Given the description of an element on the screen output the (x, y) to click on. 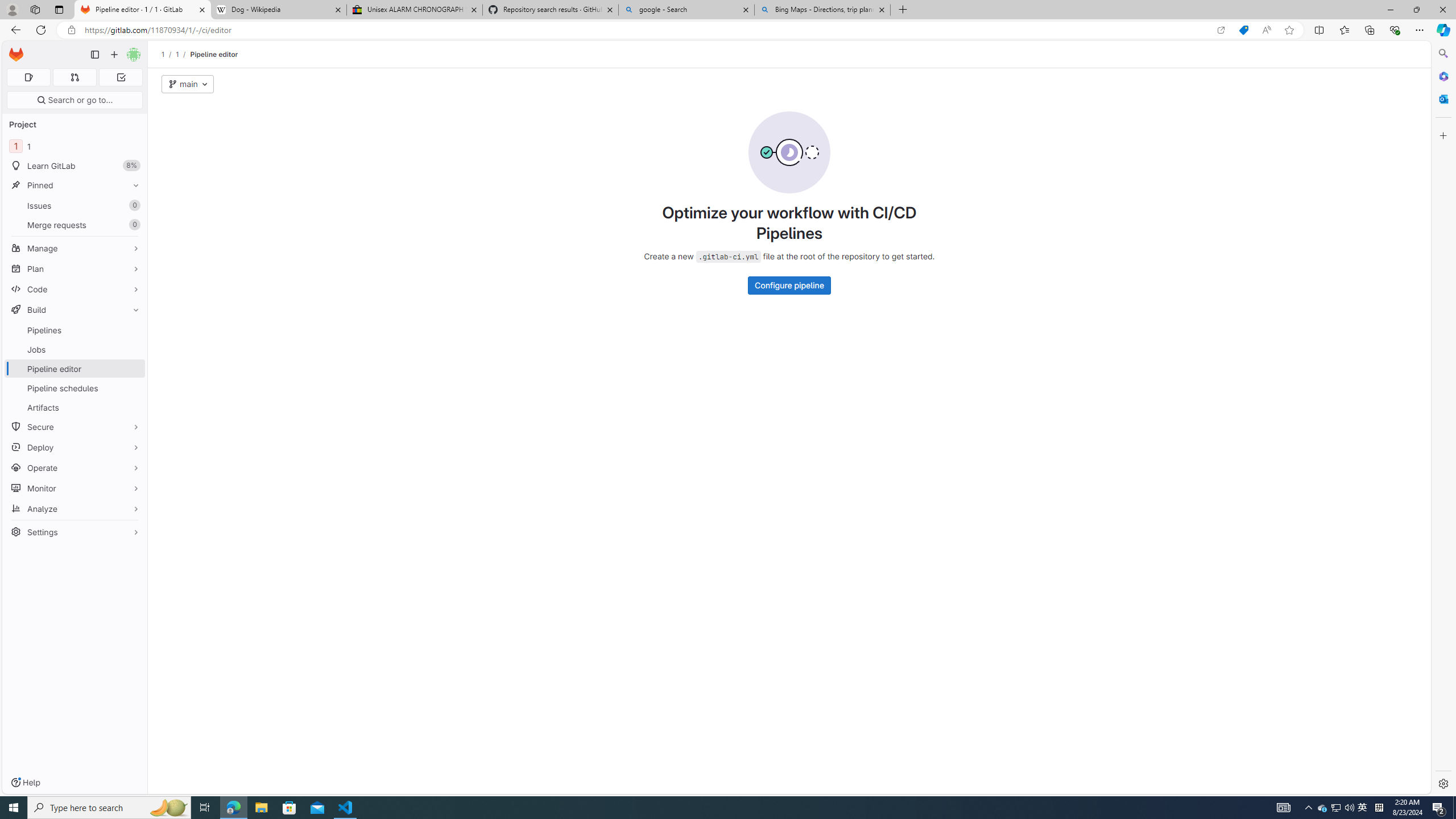
Dog - Wikipedia (277, 9)
Pin Jobs (132, 349)
Deploy (74, 447)
Jobs (74, 348)
Learn GitLab8% (74, 165)
To-Do list 0 (120, 76)
Plan (74, 268)
Secure (74, 426)
Learn GitLab 8% (74, 165)
Plan (74, 268)
Monitor (74, 488)
